Given the description of an element on the screen output the (x, y) to click on. 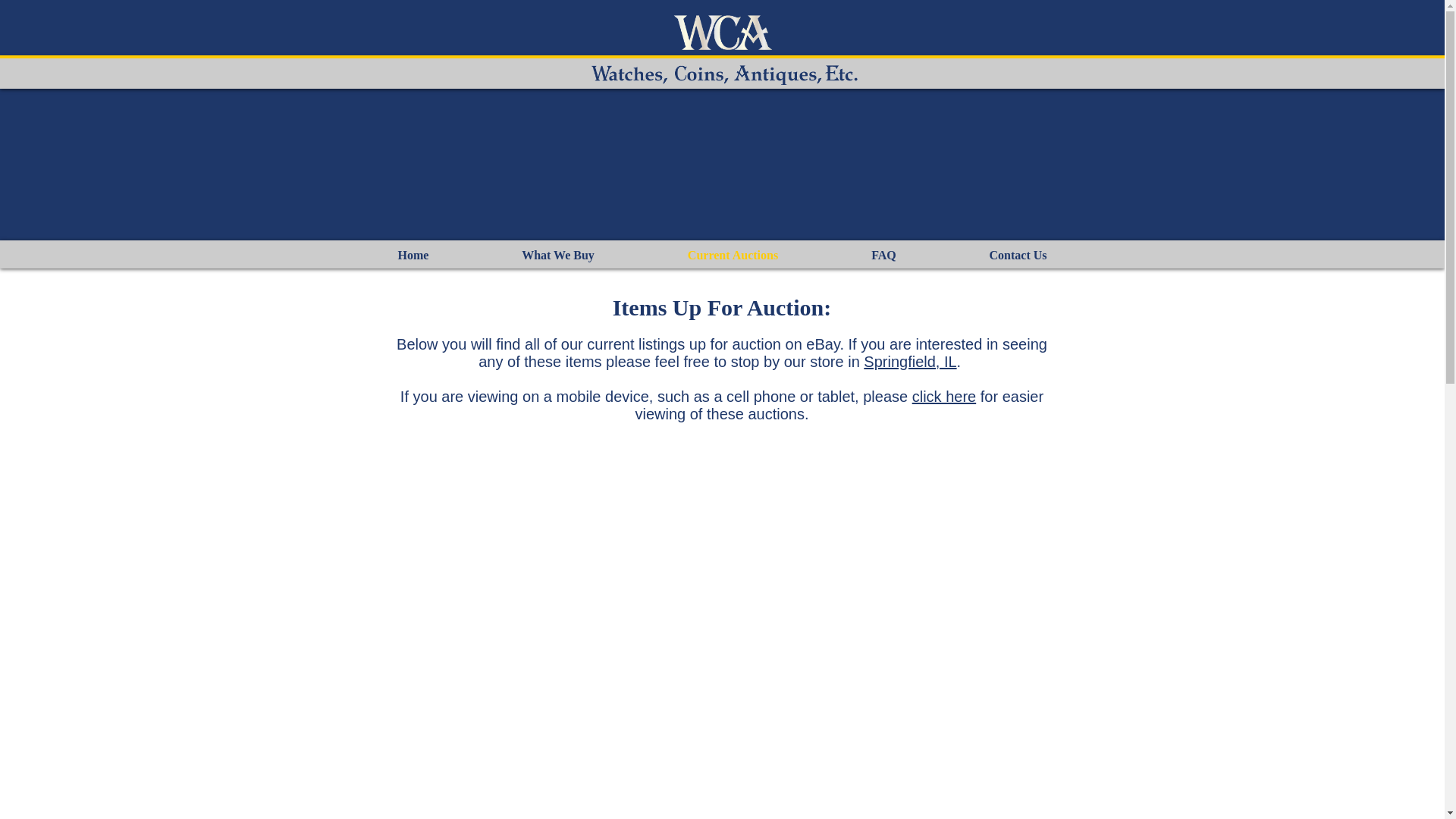
Springfield, IL (909, 361)
Home (413, 255)
Contact Us (1017, 255)
click here (943, 396)
Current Auctions (732, 255)
What We Buy (558, 255)
FAQ (883, 255)
